Given the description of an element on the screen output the (x, y) to click on. 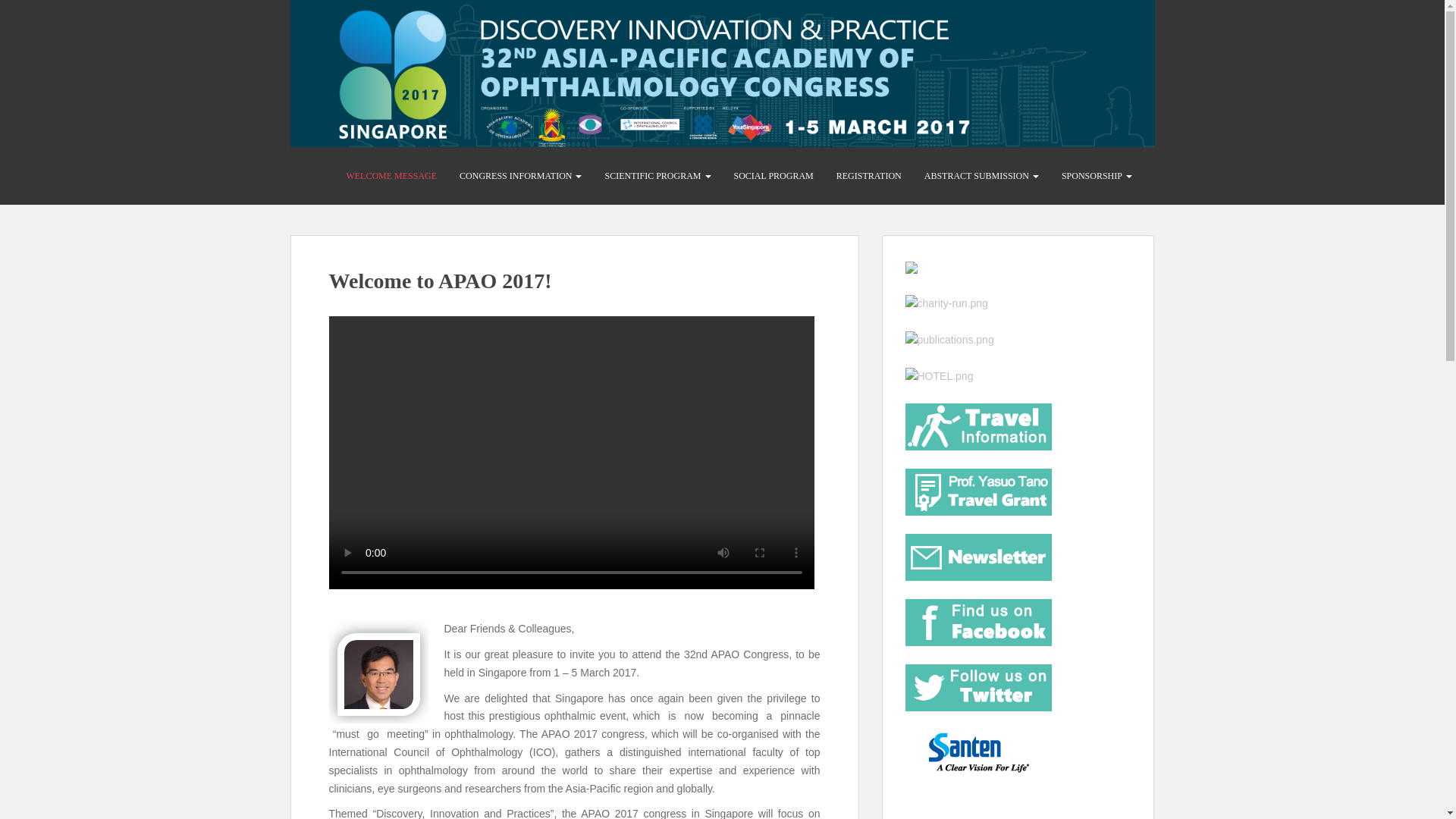
SCIENTIFIC PROGRAM (657, 175)
Social Program (773, 175)
Sponsorship (1095, 175)
Welcome message (391, 175)
CONGRESS INFORMATION (520, 175)
ABSTRACT SUBMISSION (980, 175)
Scientific Program (657, 175)
WELCOME MESSAGE (391, 175)
Registration (868, 175)
SOCIAL PROGRAM (773, 175)
SPONSORSHIP (1095, 175)
REGISTRATION (868, 175)
Abstract Submission (980, 175)
Congress Information (520, 175)
